Given the description of an element on the screen output the (x, y) to click on. 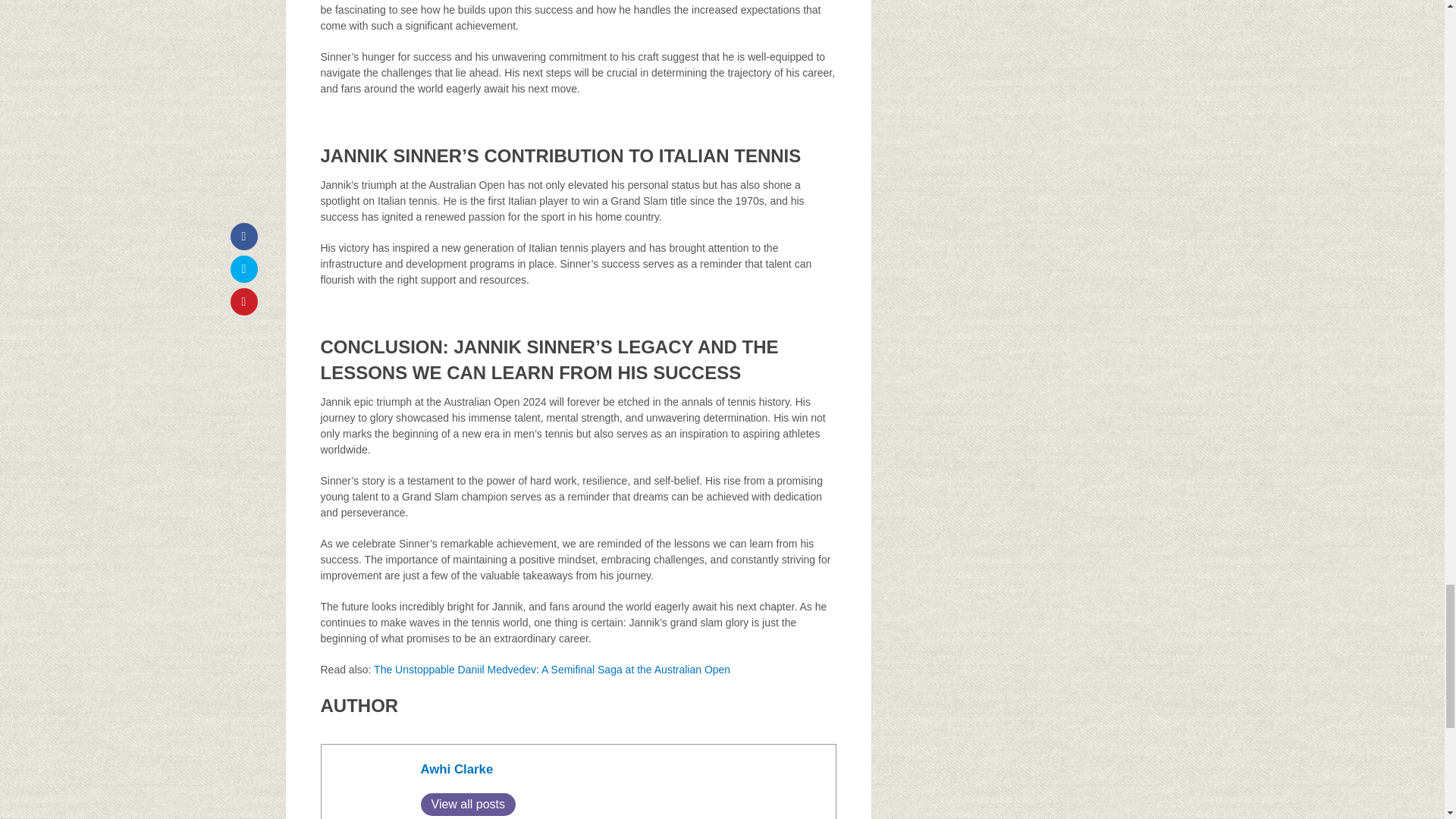
Awhi Clarke (456, 769)
View all posts (467, 804)
Awhi Clarke (456, 769)
